Given the description of an element on the screen output the (x, y) to click on. 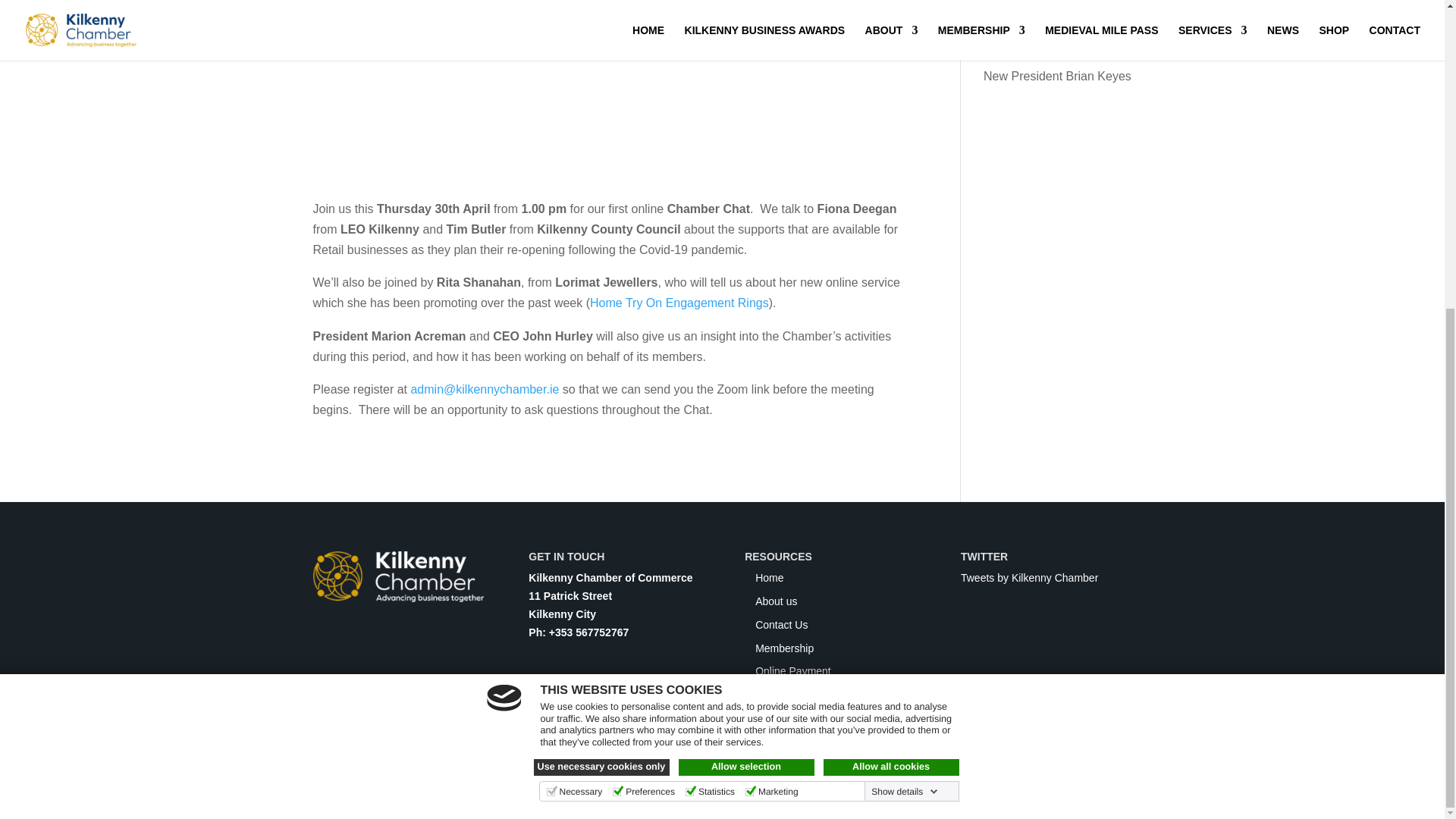
Allow selection (745, 279)
Allow all cookies (891, 279)
Show details (903, 303)
Use necessary cookies only (601, 279)
